Given the description of an element on the screen output the (x, y) to click on. 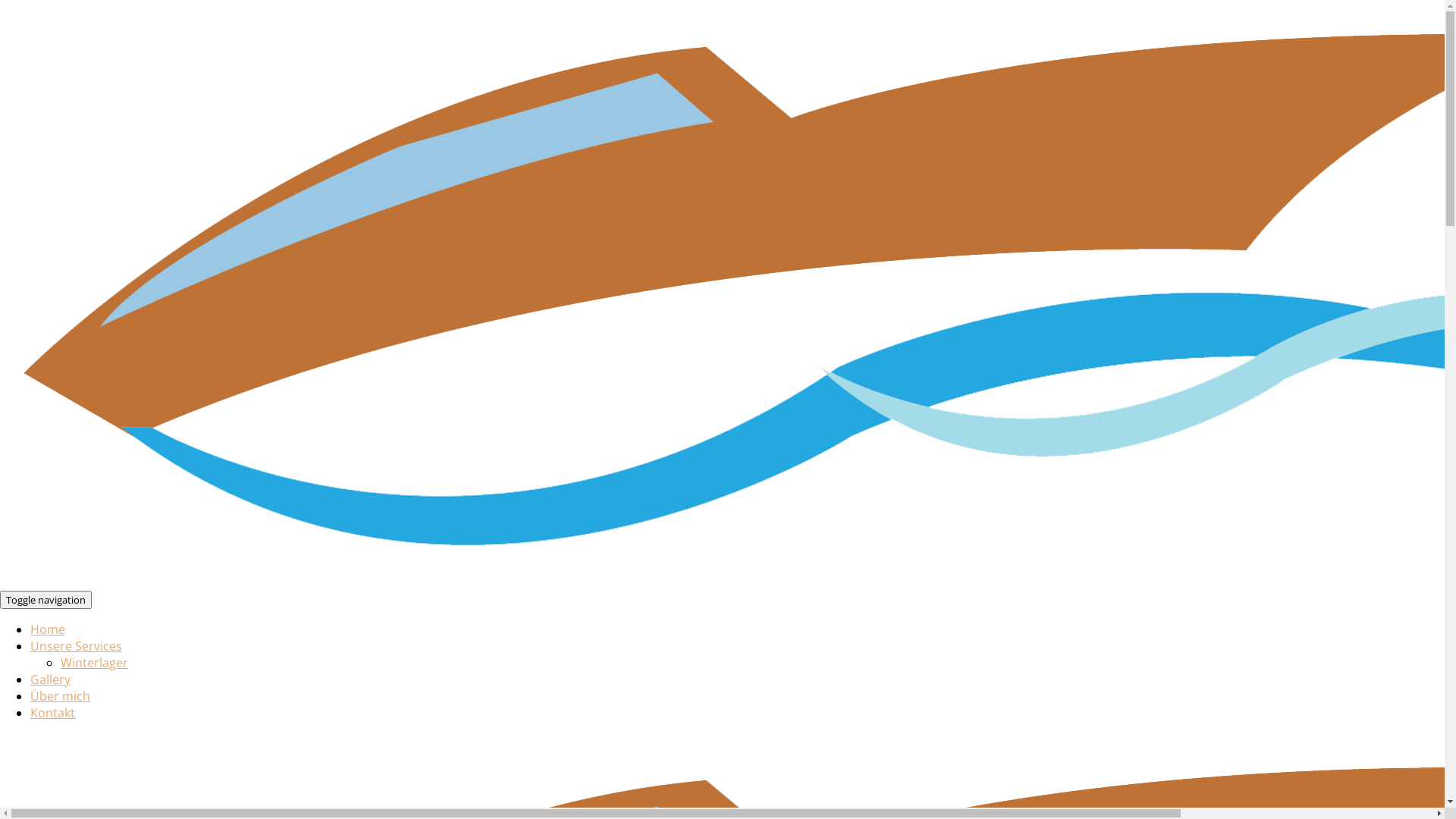
Toggle navigation Element type: text (45, 599)
Winterlager Element type: text (94, 662)
Unsere Services Element type: text (76, 645)
Kontakt Element type: text (52, 712)
Home Element type: text (47, 629)
Gallery Element type: text (50, 679)
